Given the description of an element on the screen output the (x, y) to click on. 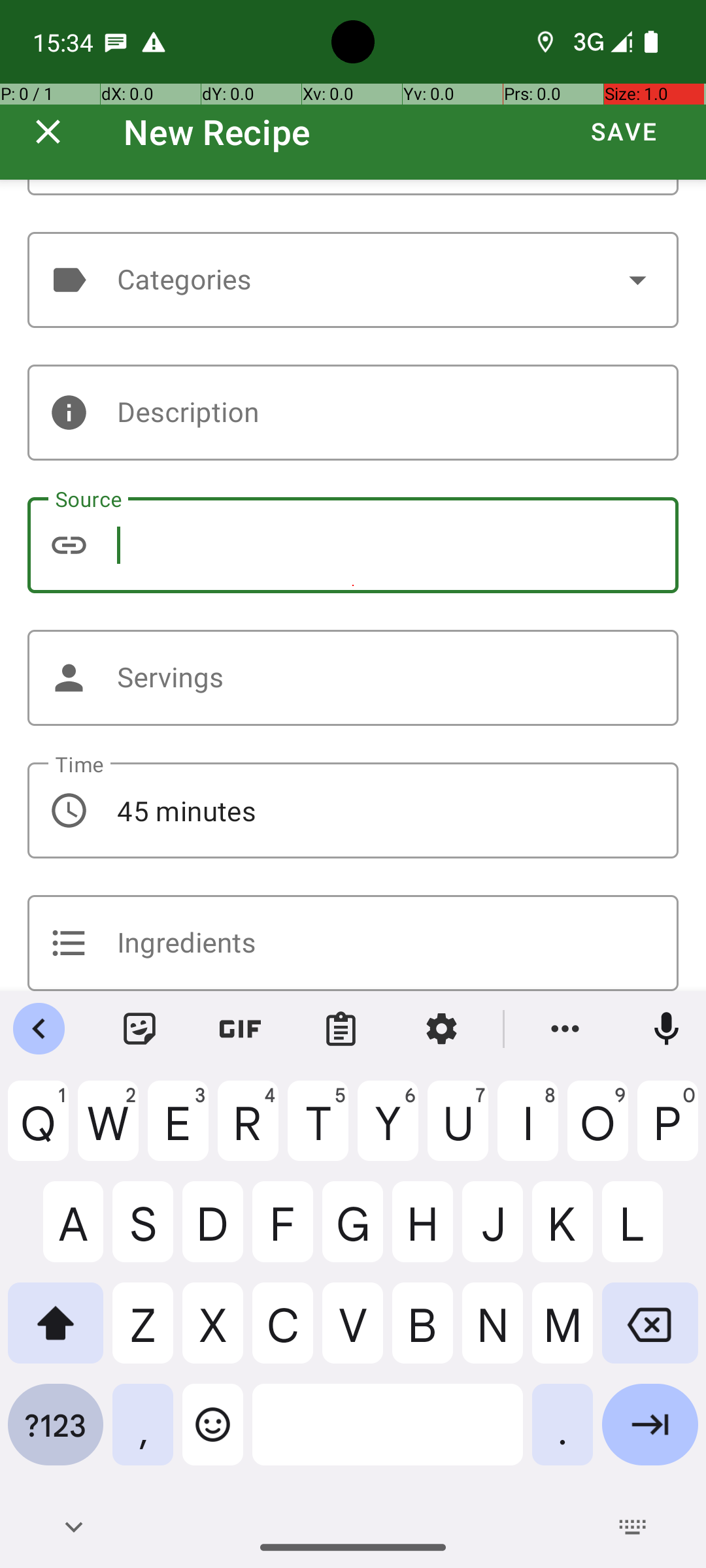
45 minutes Element type: android.widget.EditText (352, 810)
